Given the description of an element on the screen output the (x, y) to click on. 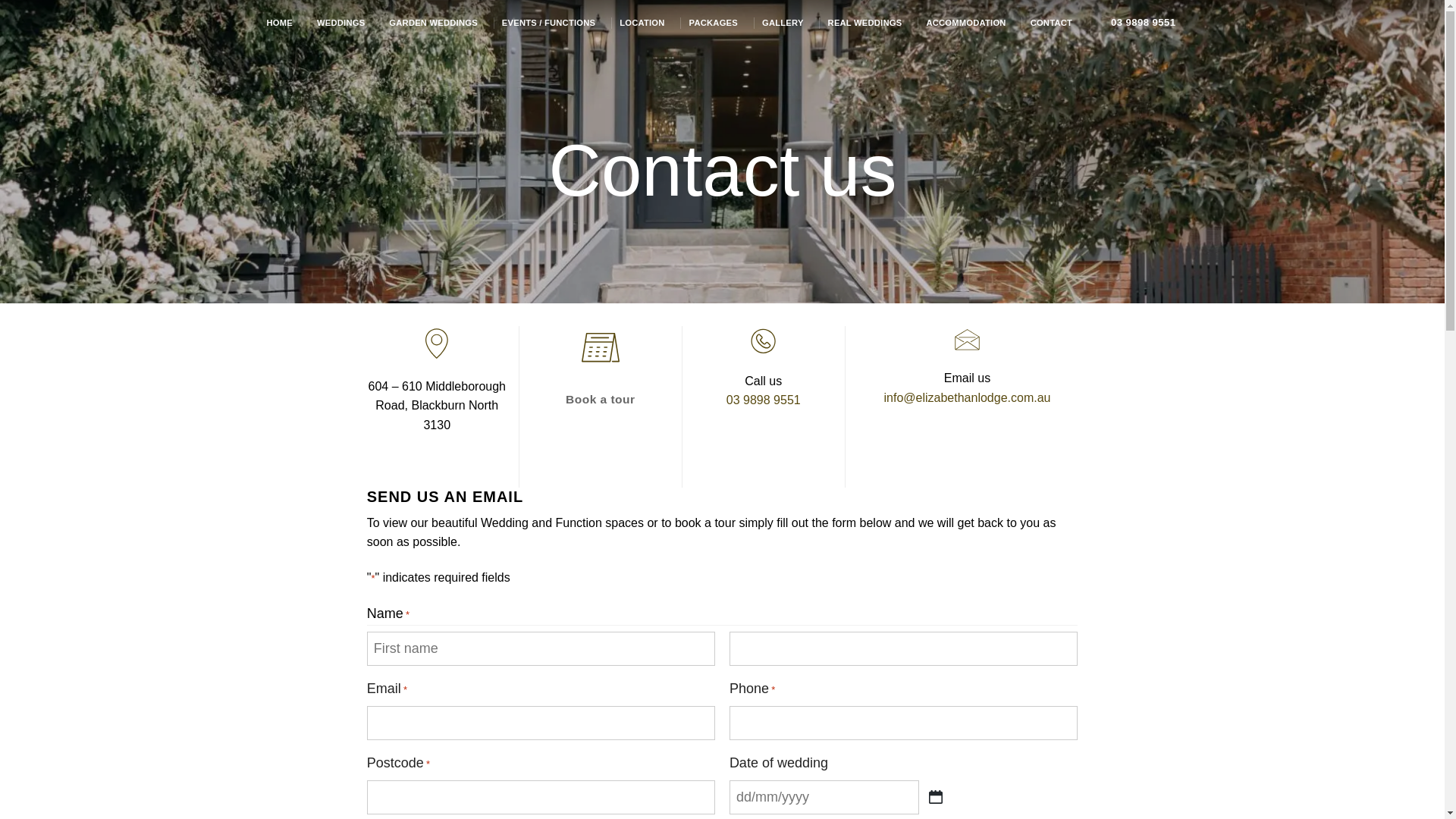
GARDEN WEDDINGS Element type: text (432, 22)
EVENTS / FUNCTIONS Element type: text (548, 22)
LOCATION Element type: text (641, 22)
Select date Element type: hover (935, 796)
WEDDINGS Element type: text (340, 22)
GALLERY Element type: text (782, 22)
03 9898 9551 Element type: text (763, 399)
PACKAGES Element type: text (713, 22)
REAL WEDDINGS Element type: text (865, 22)
03 9898 9551 Element type: text (1142, 22)
Skip to content Element type: text (0, 0)
info@elizabethanlodge.com.au Element type: text (967, 397)
ACCOMMODATION Element type: text (965, 22)
CONTACT Element type: text (1051, 22)
HOME Element type: text (279, 22)
Book a tour Element type: text (600, 399)
